Given the description of an element on the screen output the (x, y) to click on. 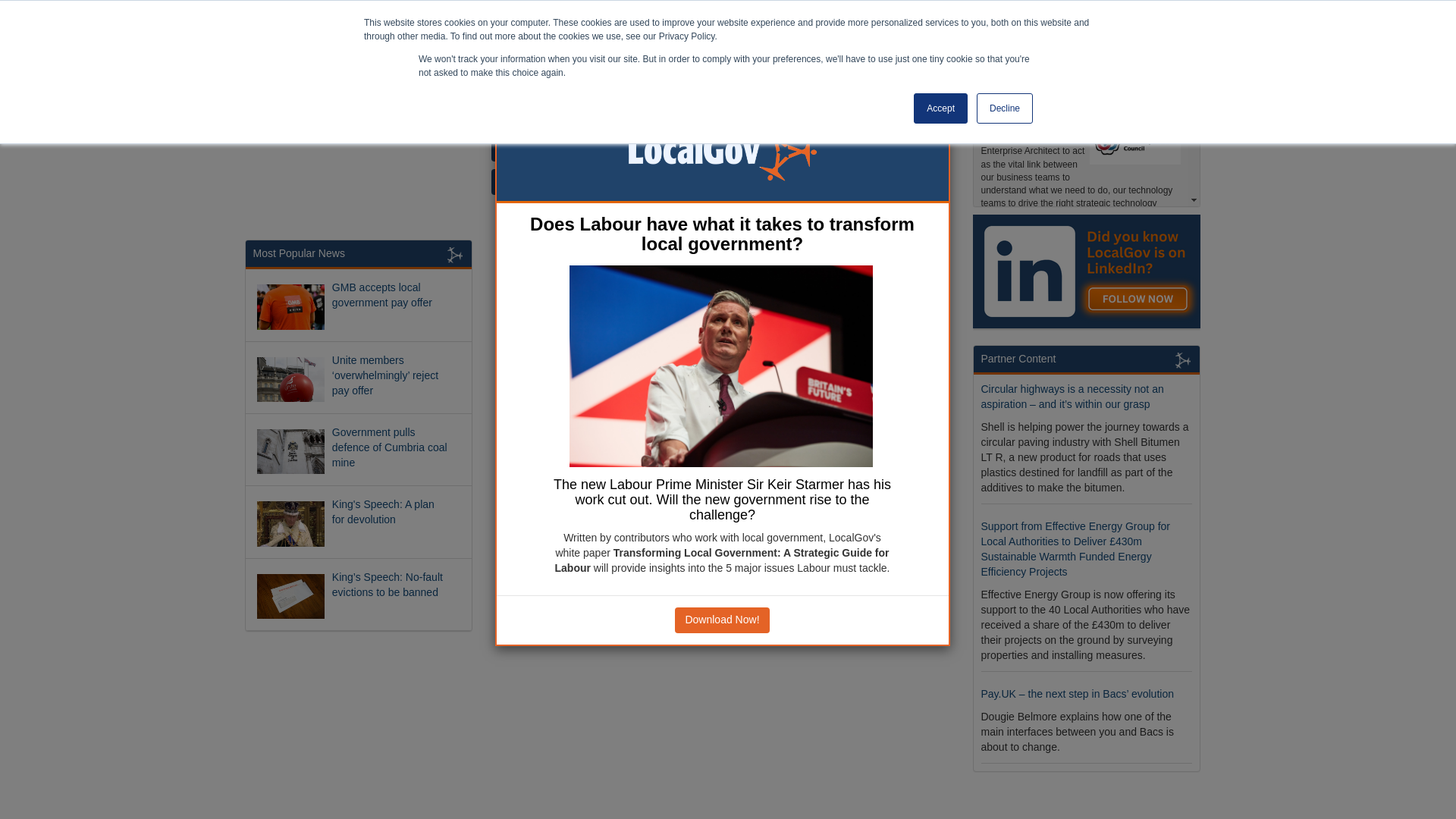
 Senior Temporary Accommodation Officer (1069, 292)
 Civil Enforcement Officer (1044, 454)
